Given the description of an element on the screen output the (x, y) to click on. 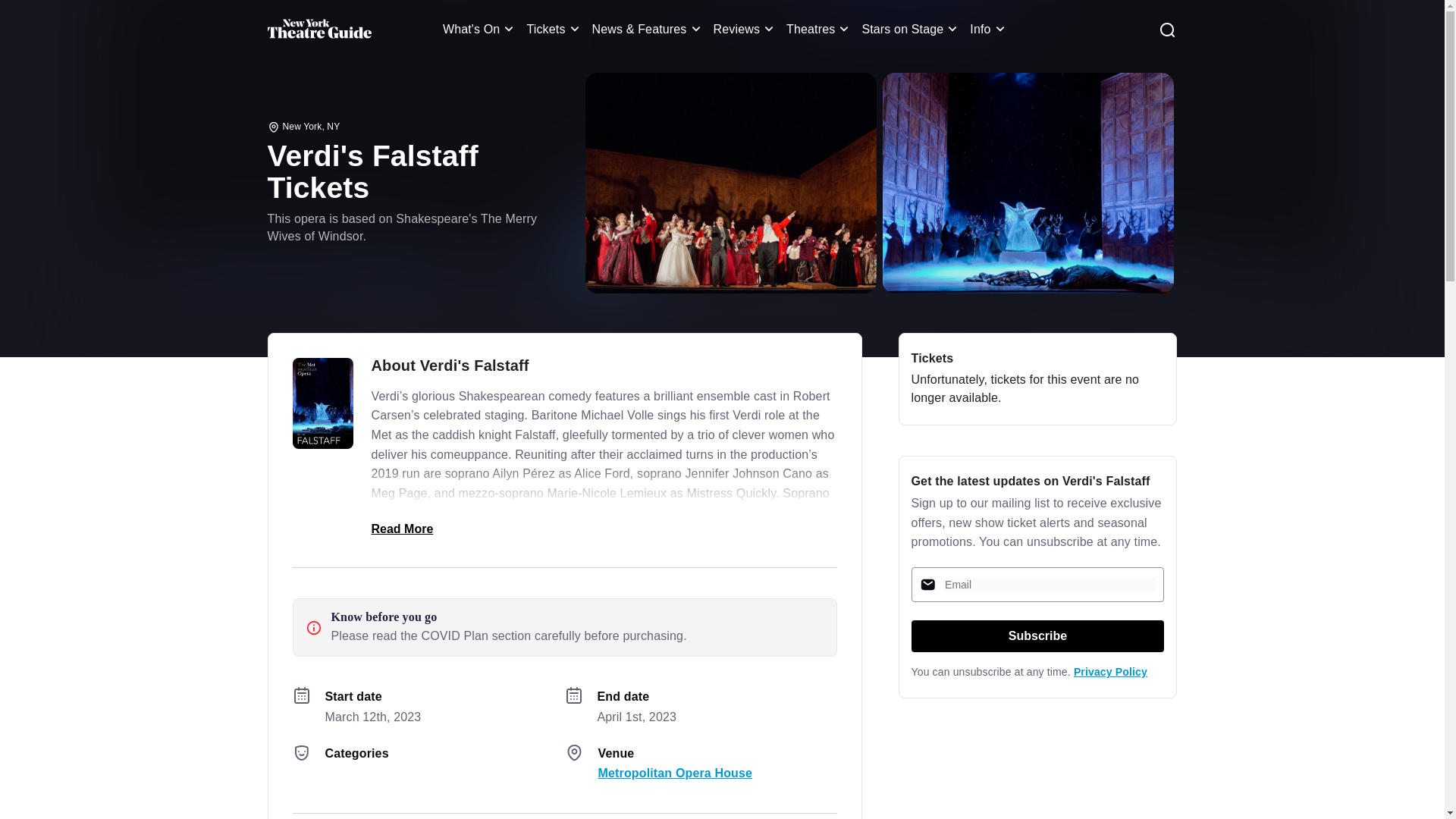
Reviews (745, 28)
Tickets (554, 28)
What's On (480, 28)
Home (318, 28)
Theatres (819, 28)
